Given the description of an element on the screen output the (x, y) to click on. 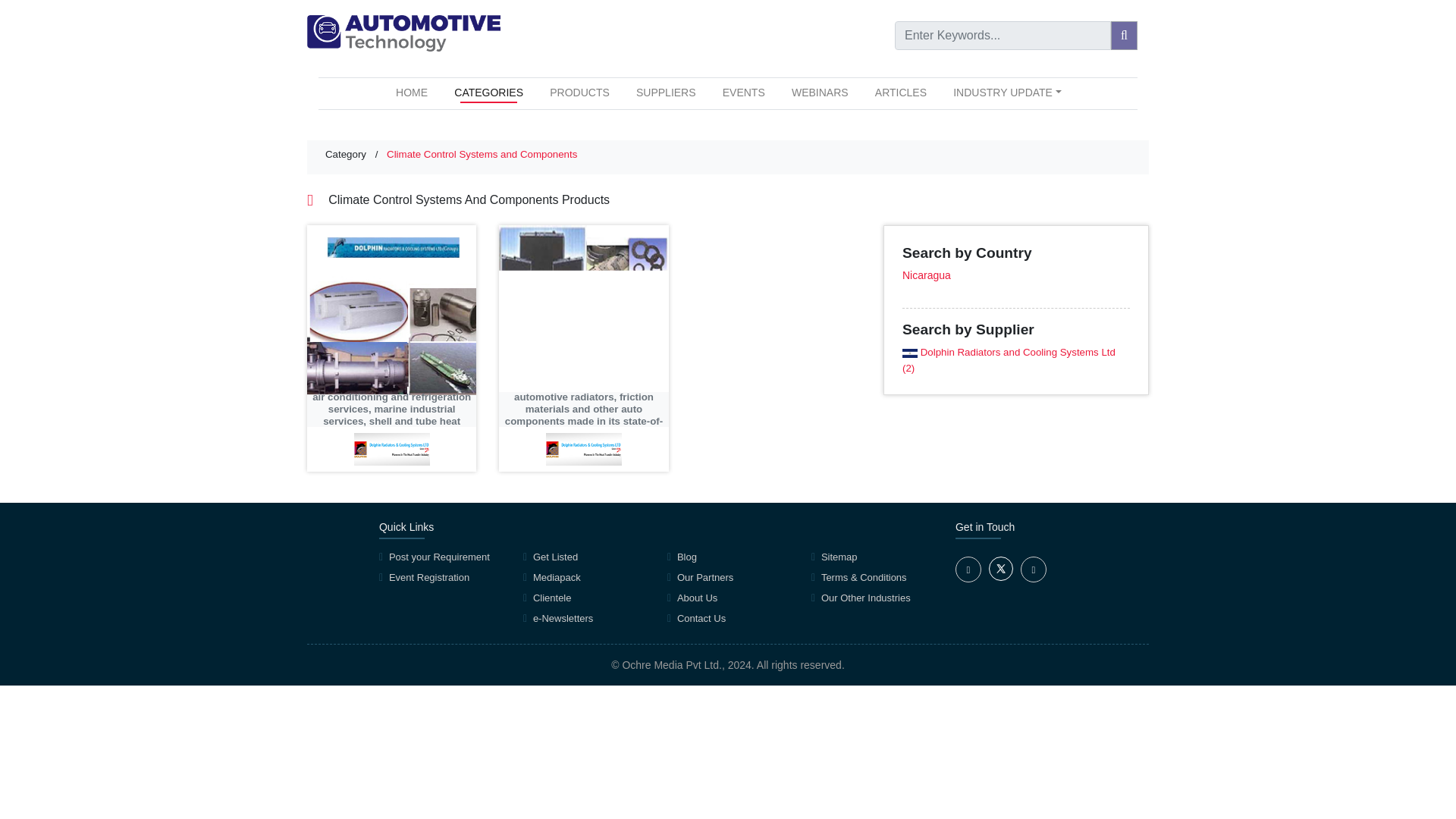
PRODUCTS (579, 92)
Nicaragua (909, 352)
EVENTS (743, 92)
Nicaragua (926, 275)
Dolphin Radiators and Cooling Systems Ltd (1017, 351)
CATEGORIES (488, 92)
Contact Us (701, 618)
Blog (687, 556)
INDUSTRY UPDATE (1007, 92)
Event Registration (428, 577)
Climate Control Systems and Components (481, 153)
Facebook (968, 569)
Sitemap (839, 556)
Twitter (1000, 577)
